Given the description of an element on the screen output the (x, y) to click on. 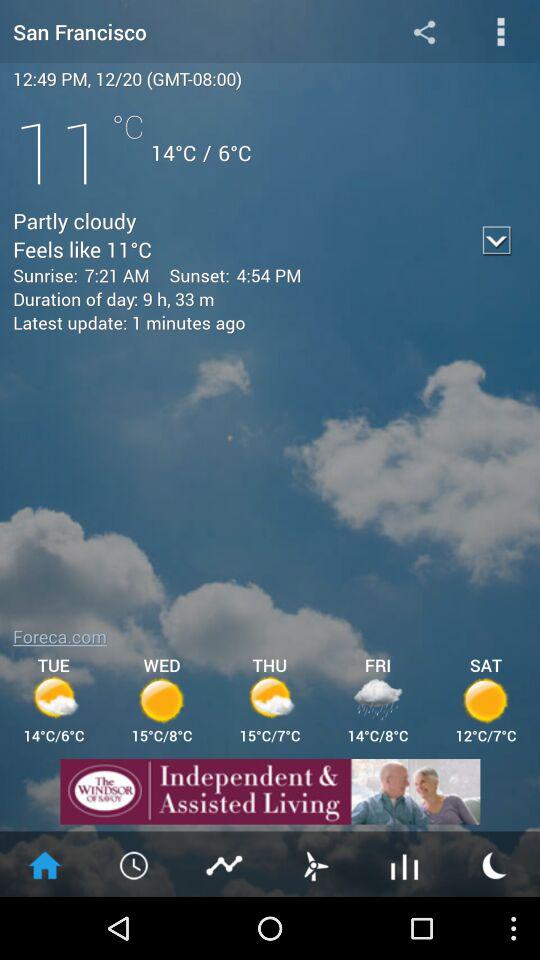
share the article (270, 791)
